Given the description of an element on the screen output the (x, y) to click on. 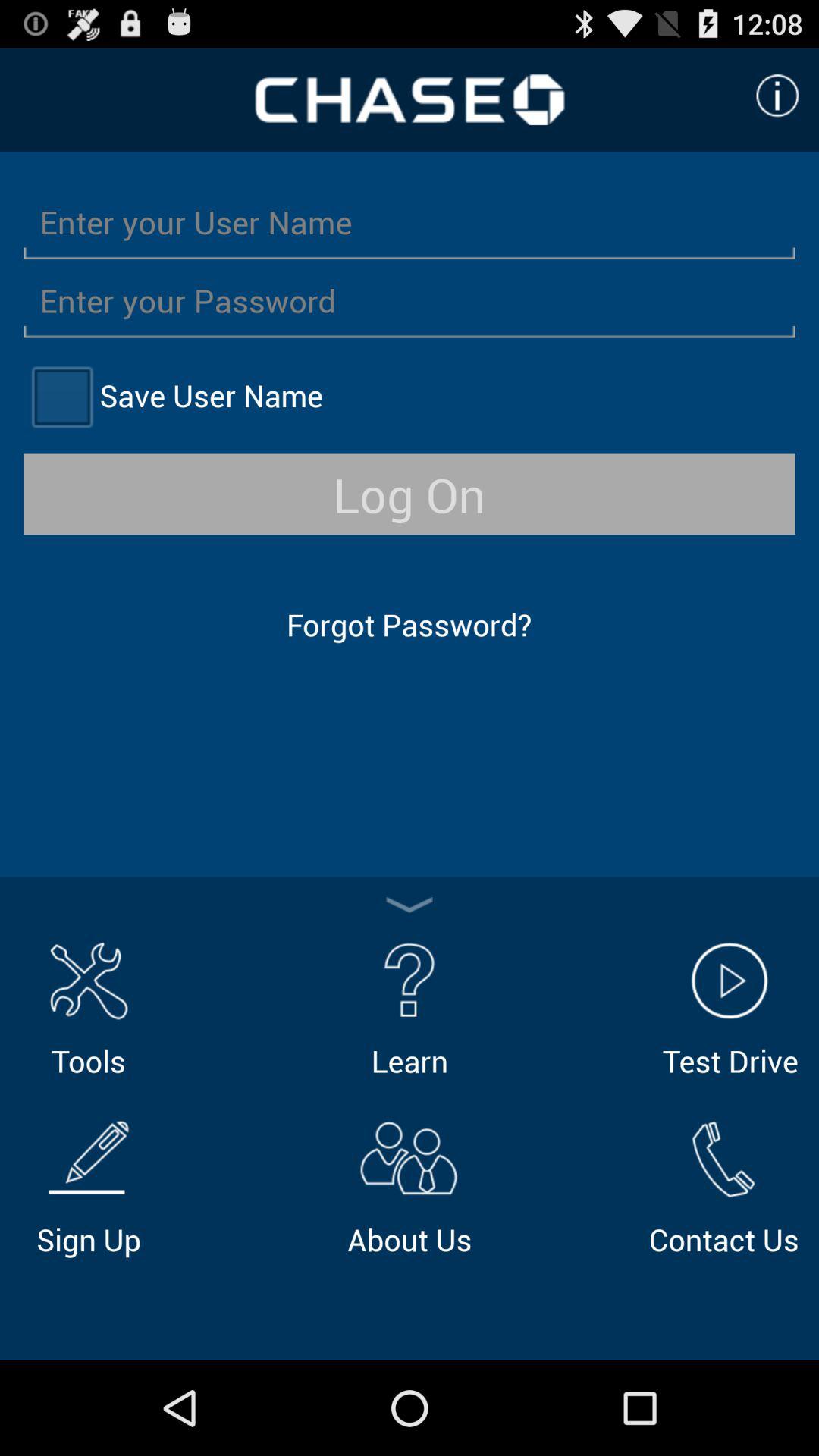
collapse options (409, 904)
